Given the description of an element on the screen output the (x, y) to click on. 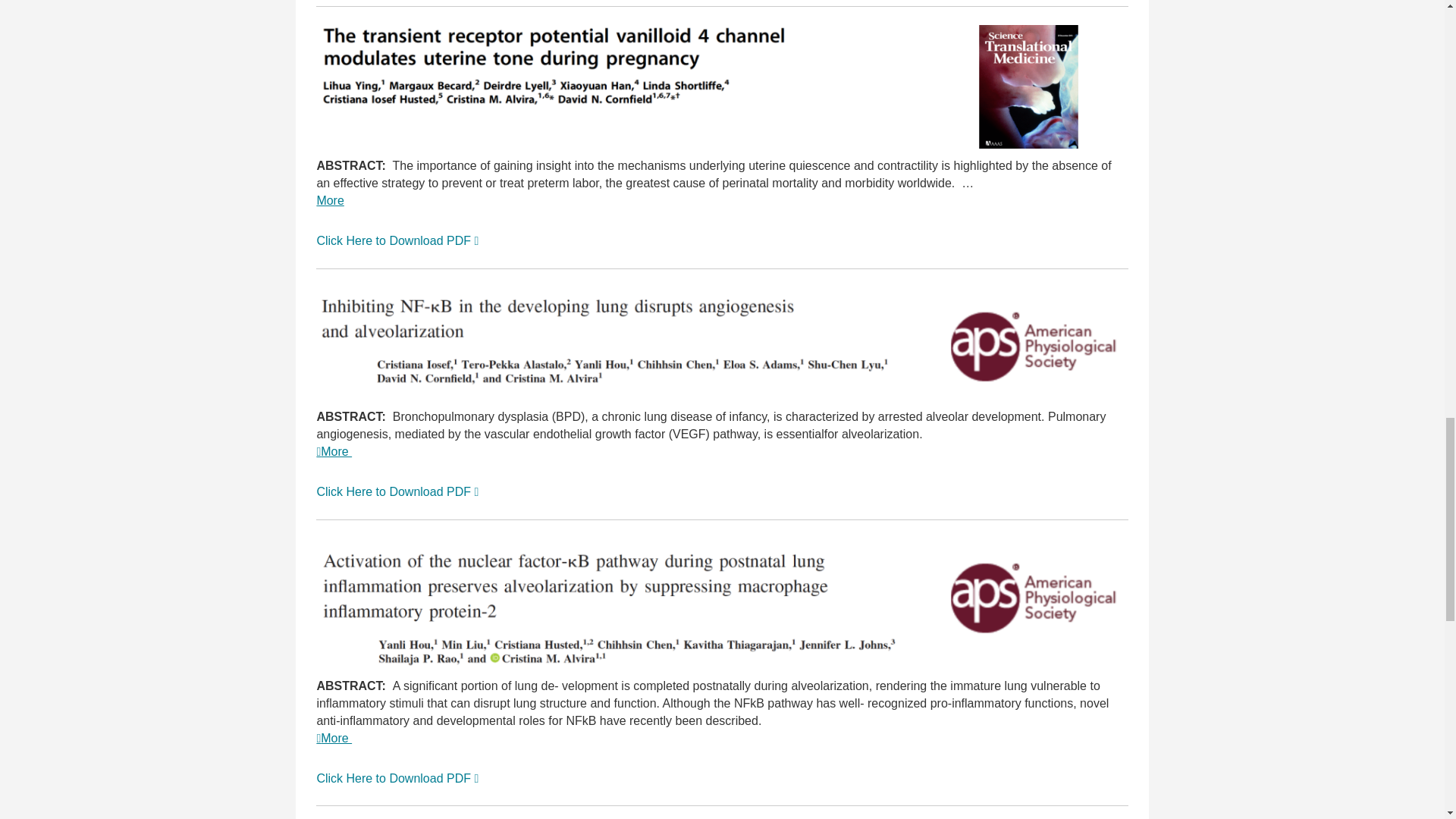
Screen-Shot-2017-06-21-at-12.32.33-PM  (617, 336)
Screen-Shot-2017-06-21-at-11.45.32-AM  (617, 67)
Screen-Shot-2017-06-21-at-11.46.33-AM  (617, 603)
Screen-Shot-2017-06-21-at-12.43.55-PM  (1029, 343)
